Given the description of an element on the screen output the (x, y) to click on. 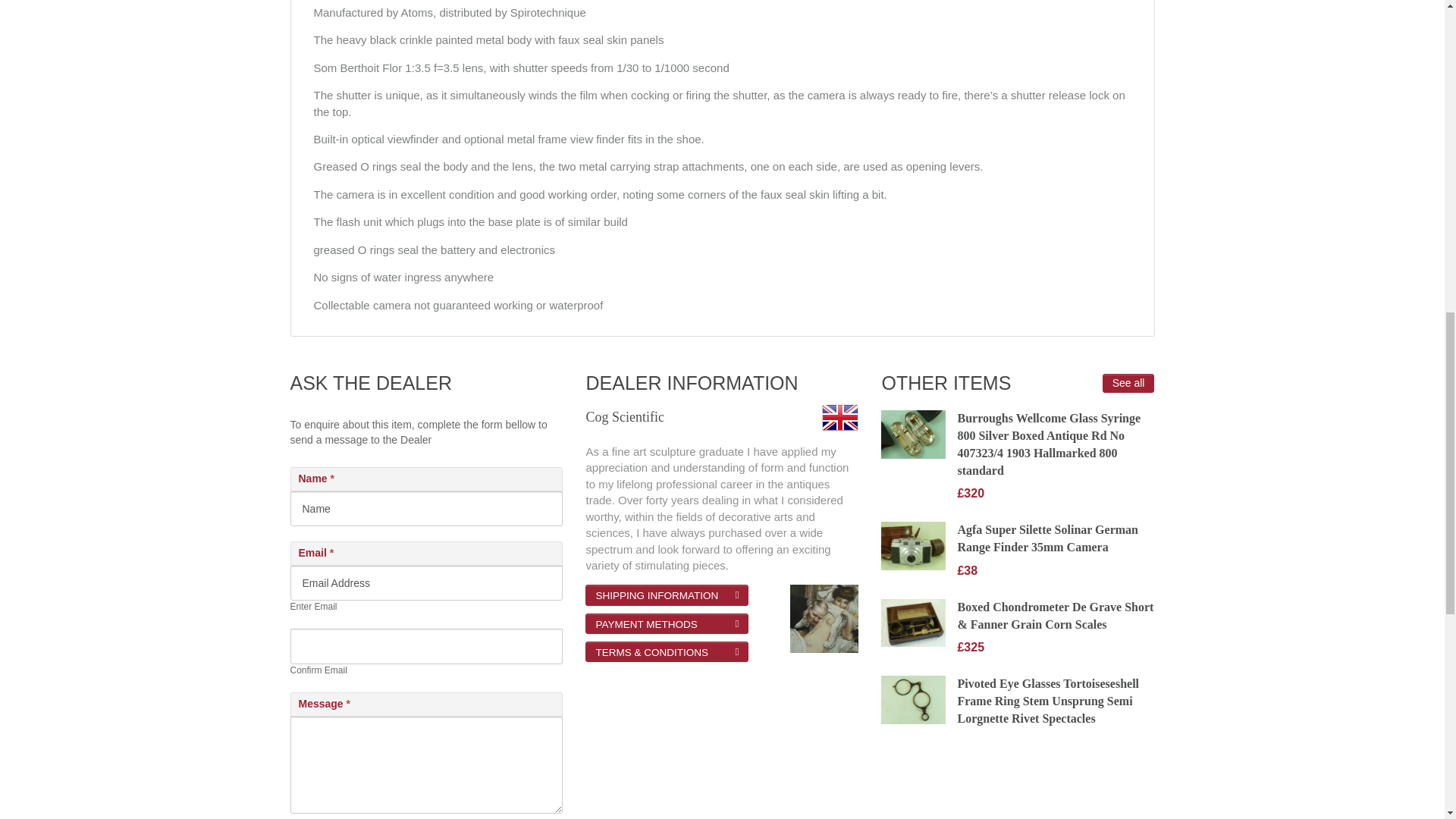
Name (425, 508)
Email Address (425, 582)
